Given the description of an element on the screen output the (x, y) to click on. 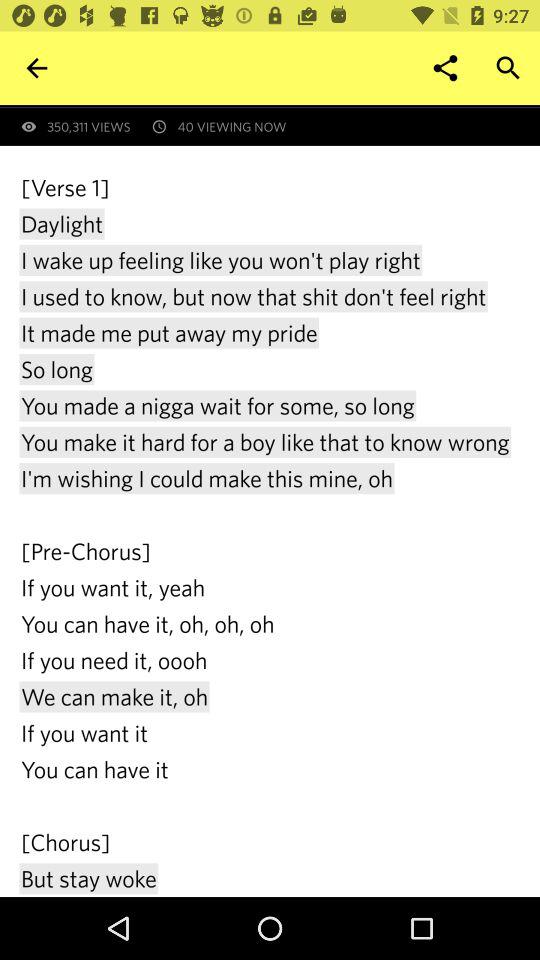
click the item next to 40 viewing now icon (36, 68)
